Given the description of an element on the screen output the (x, y) to click on. 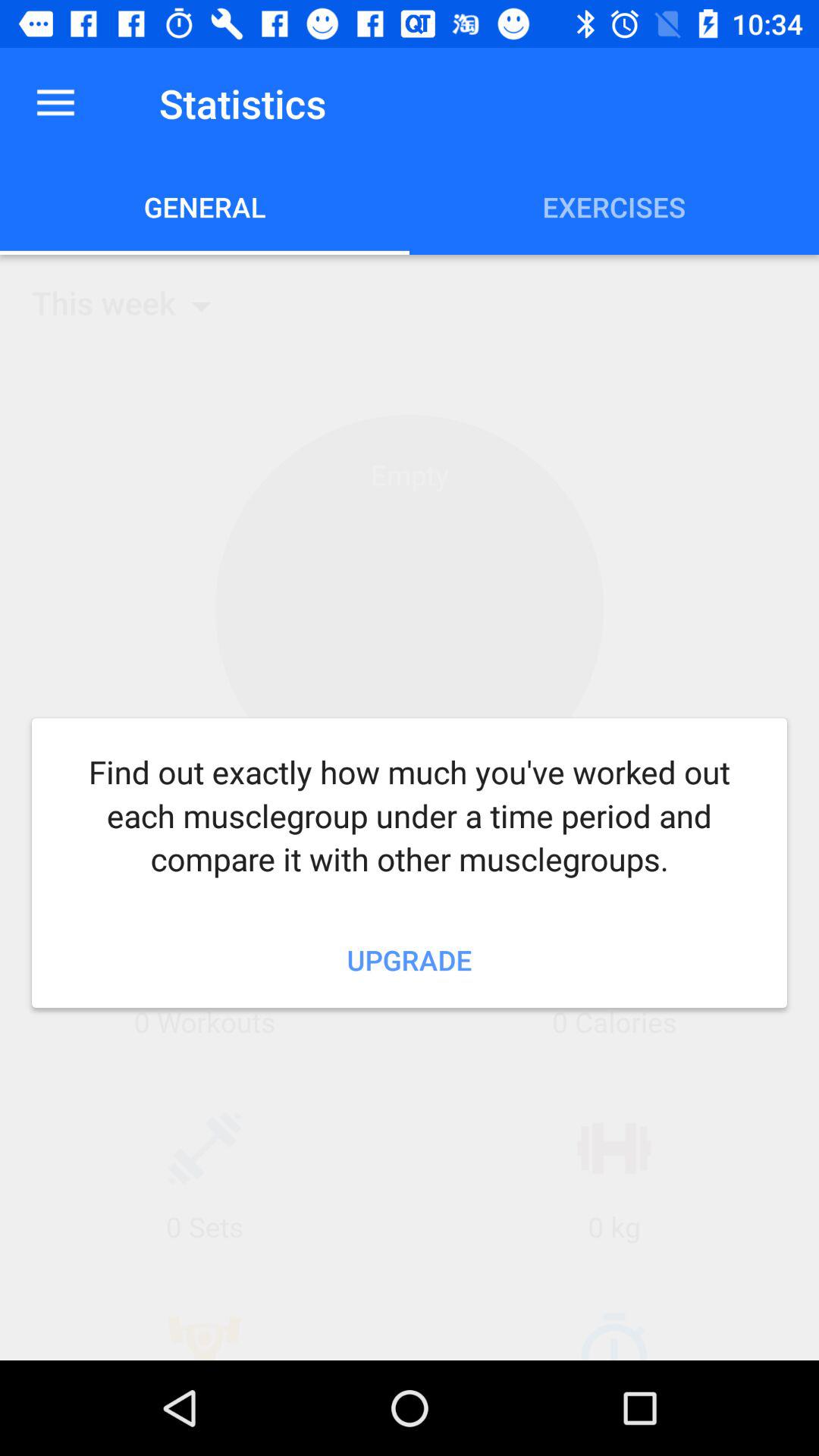
click the item next to statistics (55, 103)
